Given the description of an element on the screen output the (x, y) to click on. 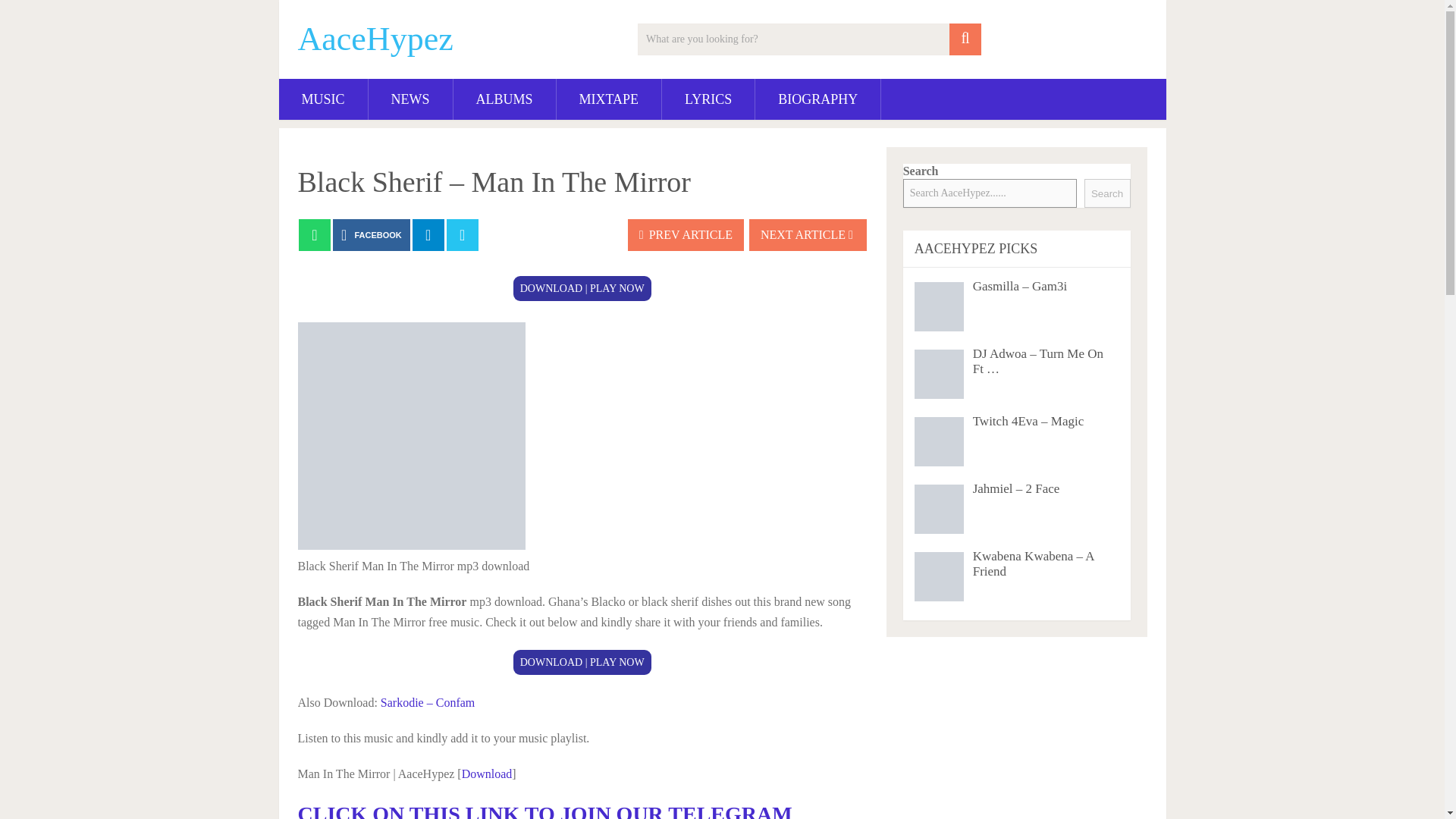
BIOGRAPHY (817, 98)
ALBUMS (504, 98)
AaceHypez (374, 39)
FACEBOOK (371, 234)
MUSIC (323, 98)
PREV ARTICLE (685, 234)
LYRICS (708, 98)
MIXTAPE (609, 98)
CLICK ON THIS LINK TO JOIN OUR TELEGRAM CHANNEL (544, 810)
NEWS (410, 98)
